Given the description of an element on the screen output the (x, y) to click on. 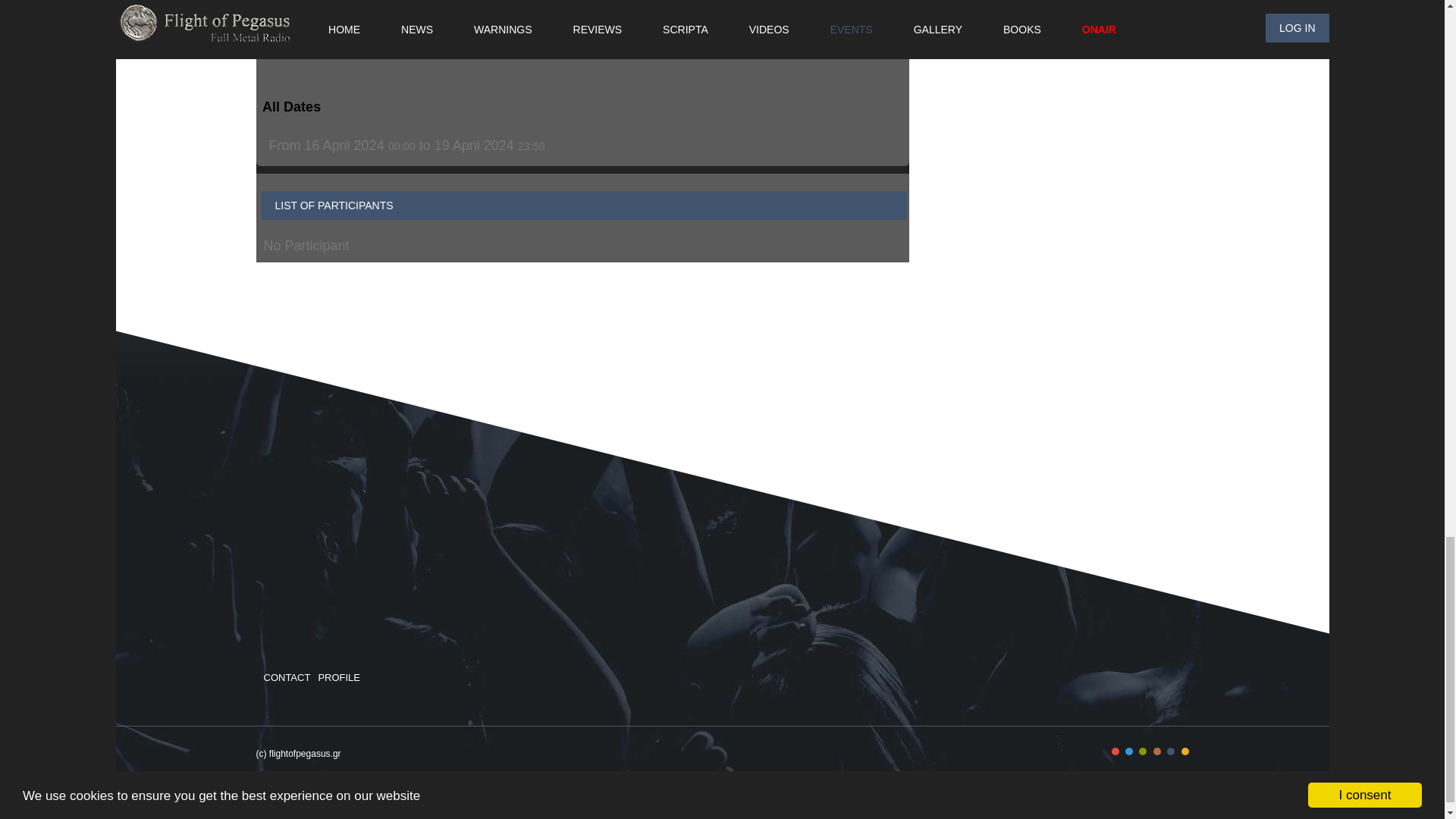
LIST OF PARTICIPANTS (582, 205)
